Given the description of an element on the screen output the (x, y) to click on. 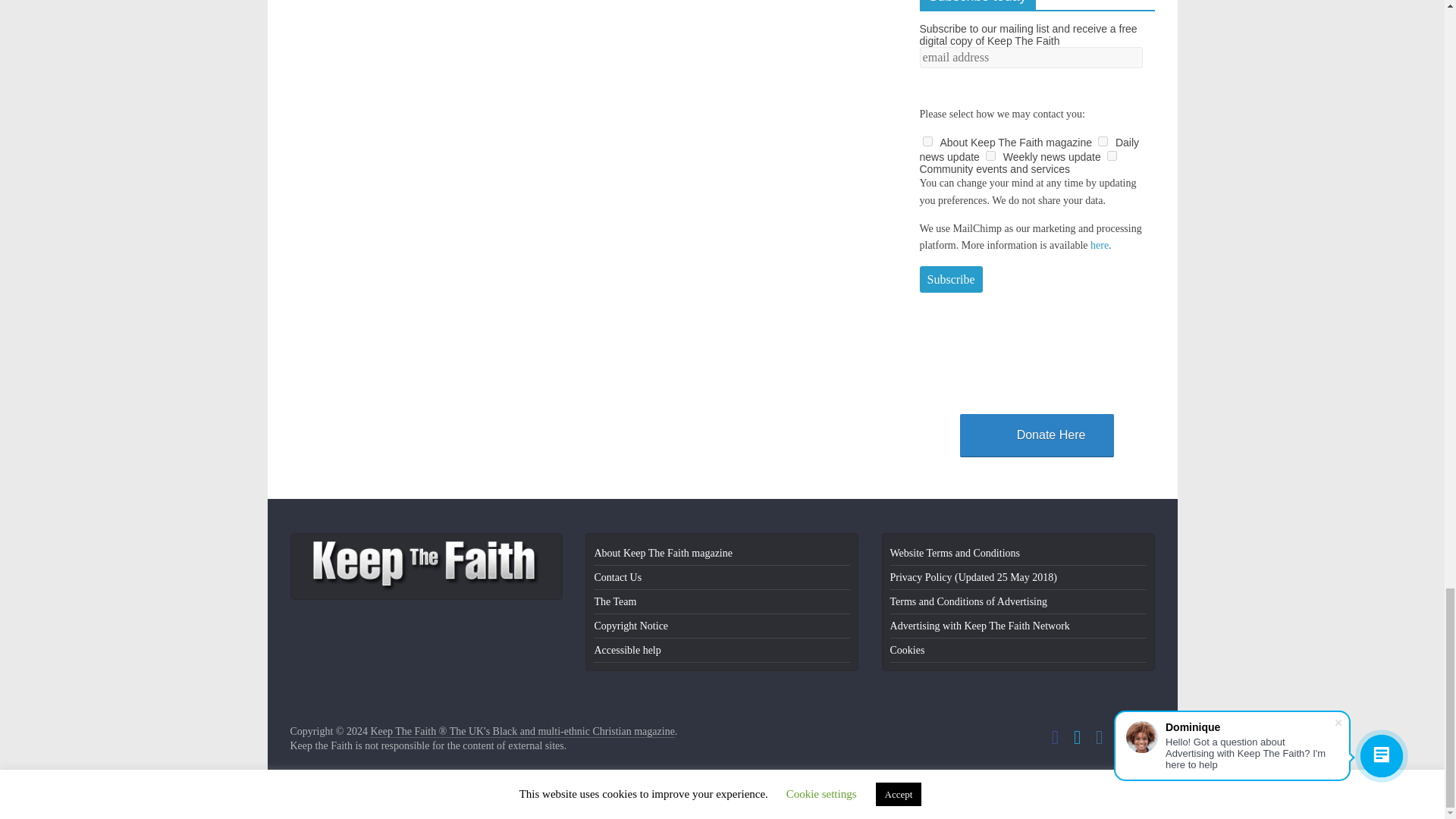
Subscribe (949, 279)
Y (1111, 155)
Y (1102, 141)
Y (926, 141)
Y (990, 155)
